Given the description of an element on the screen output the (x, y) to click on. 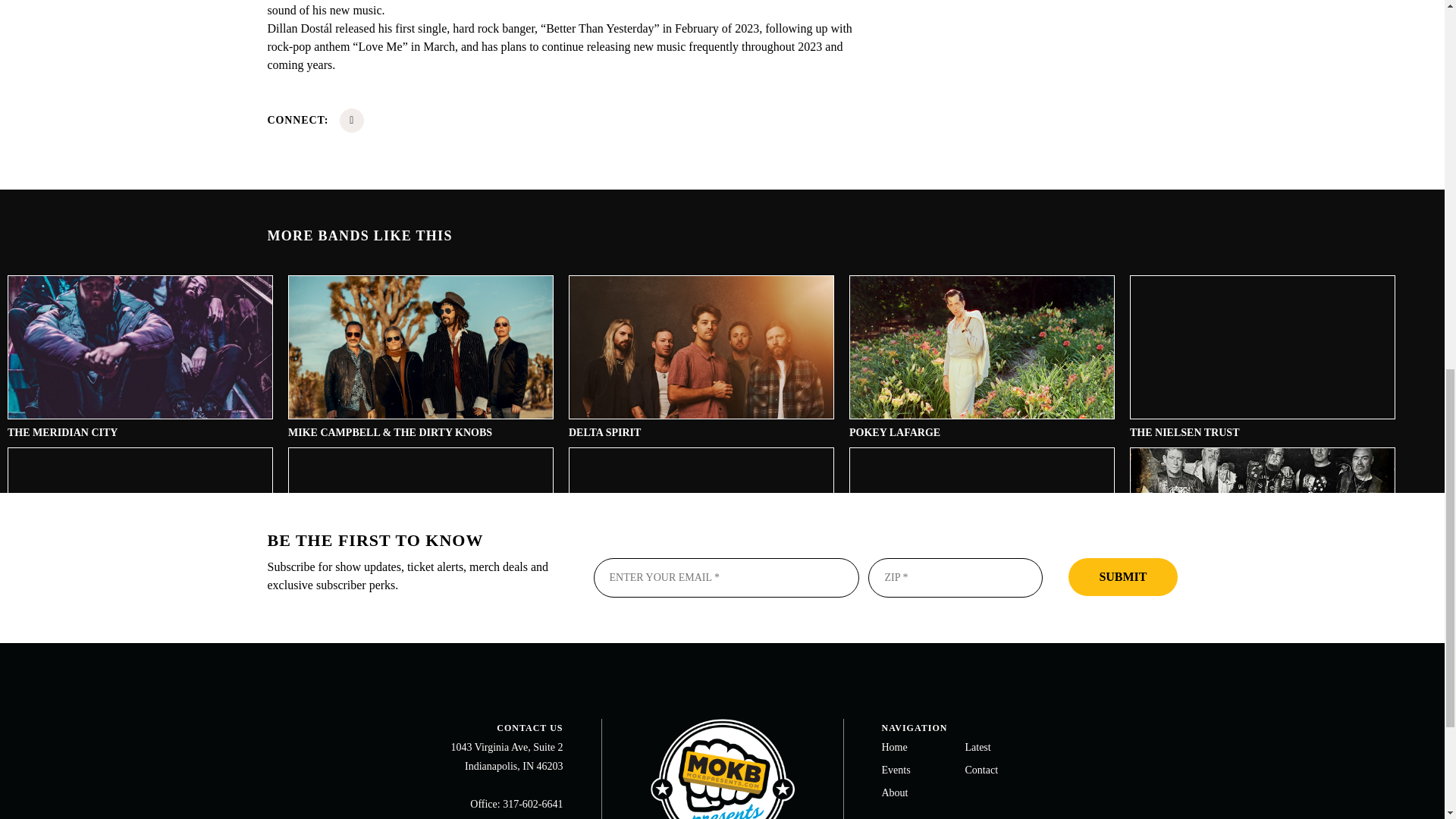
Submit (1122, 576)
